Given the description of an element on the screen output the (x, y) to click on. 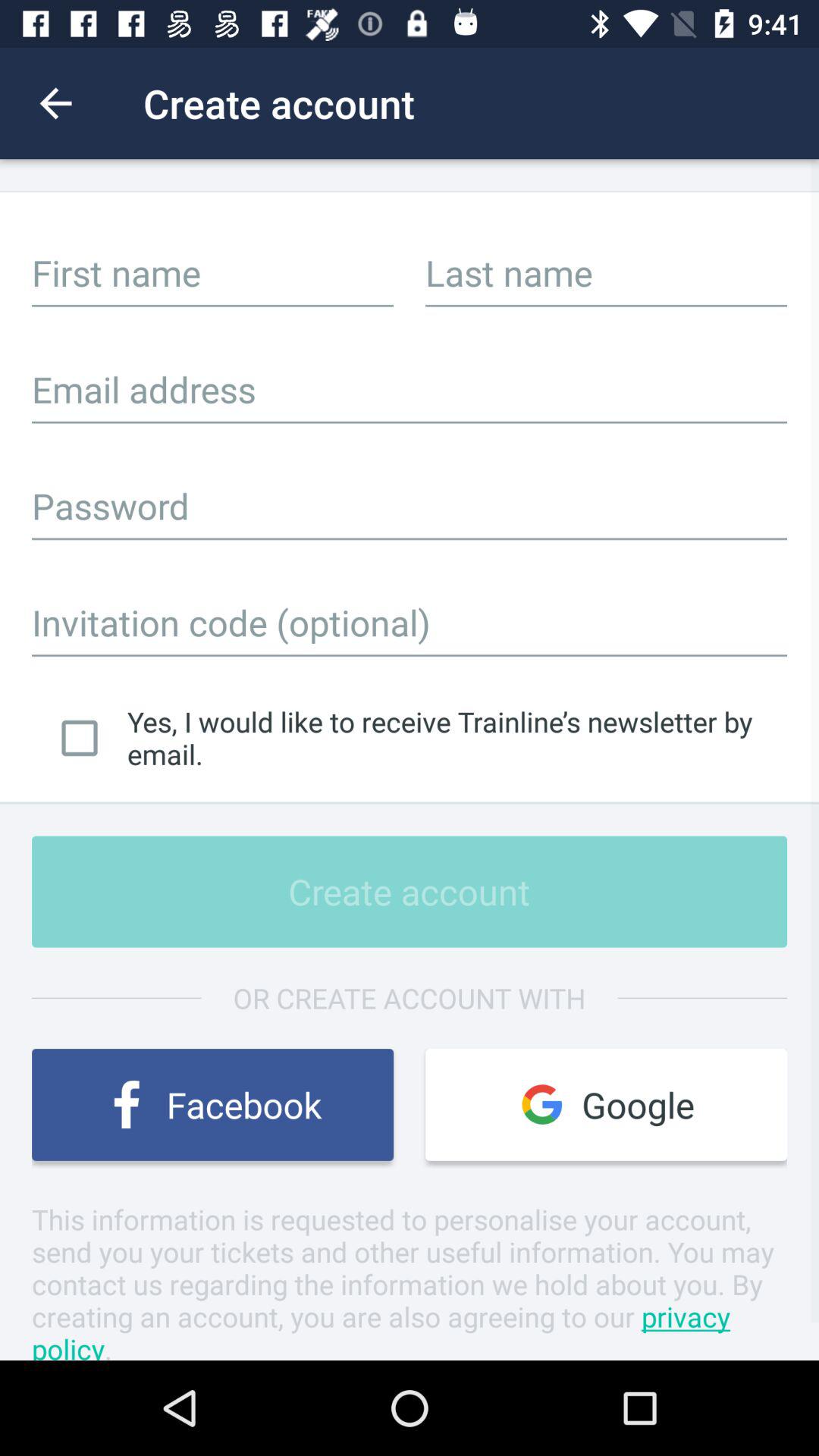
password field (409, 505)
